Given the description of an element on the screen output the (x, y) to click on. 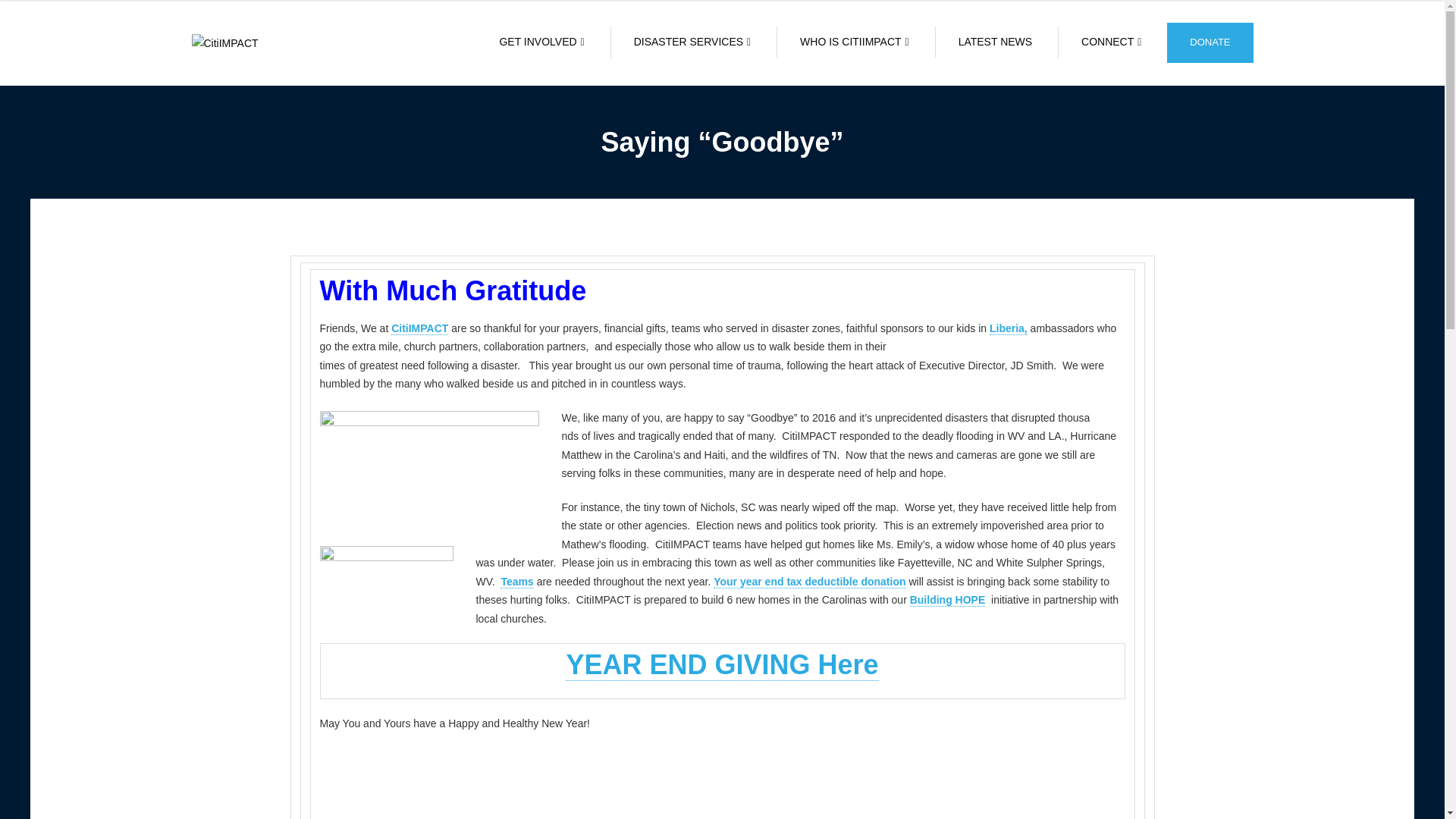
GET INVOLVED (541, 42)
YEAR END GIVING Here (721, 664)
